Given the description of an element on the screen output the (x, y) to click on. 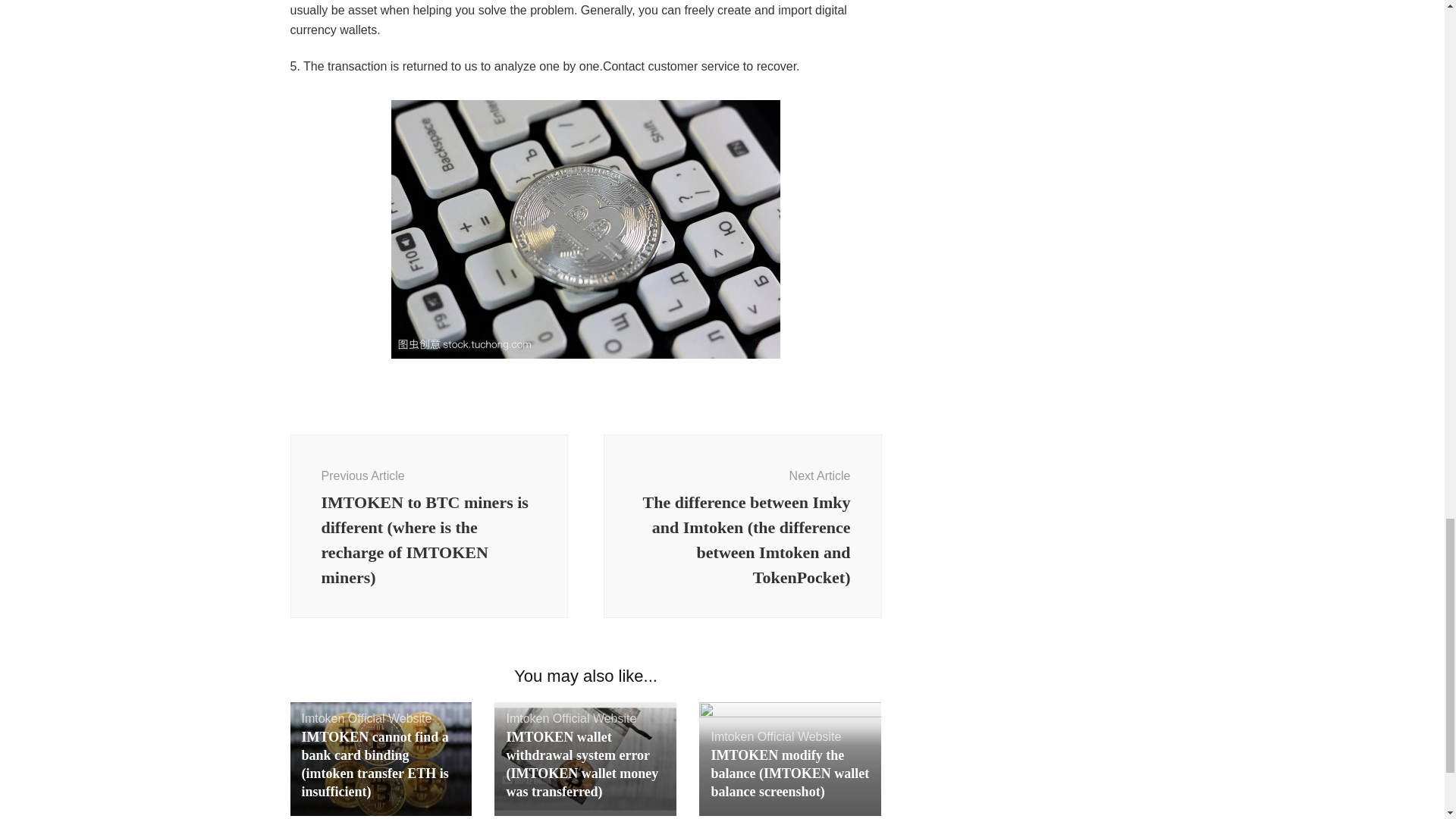
Imtoken Official Website (775, 736)
Imtoken Official Website (570, 717)
Imtoken Official Website (366, 717)
